Given the description of an element on the screen output the (x, y) to click on. 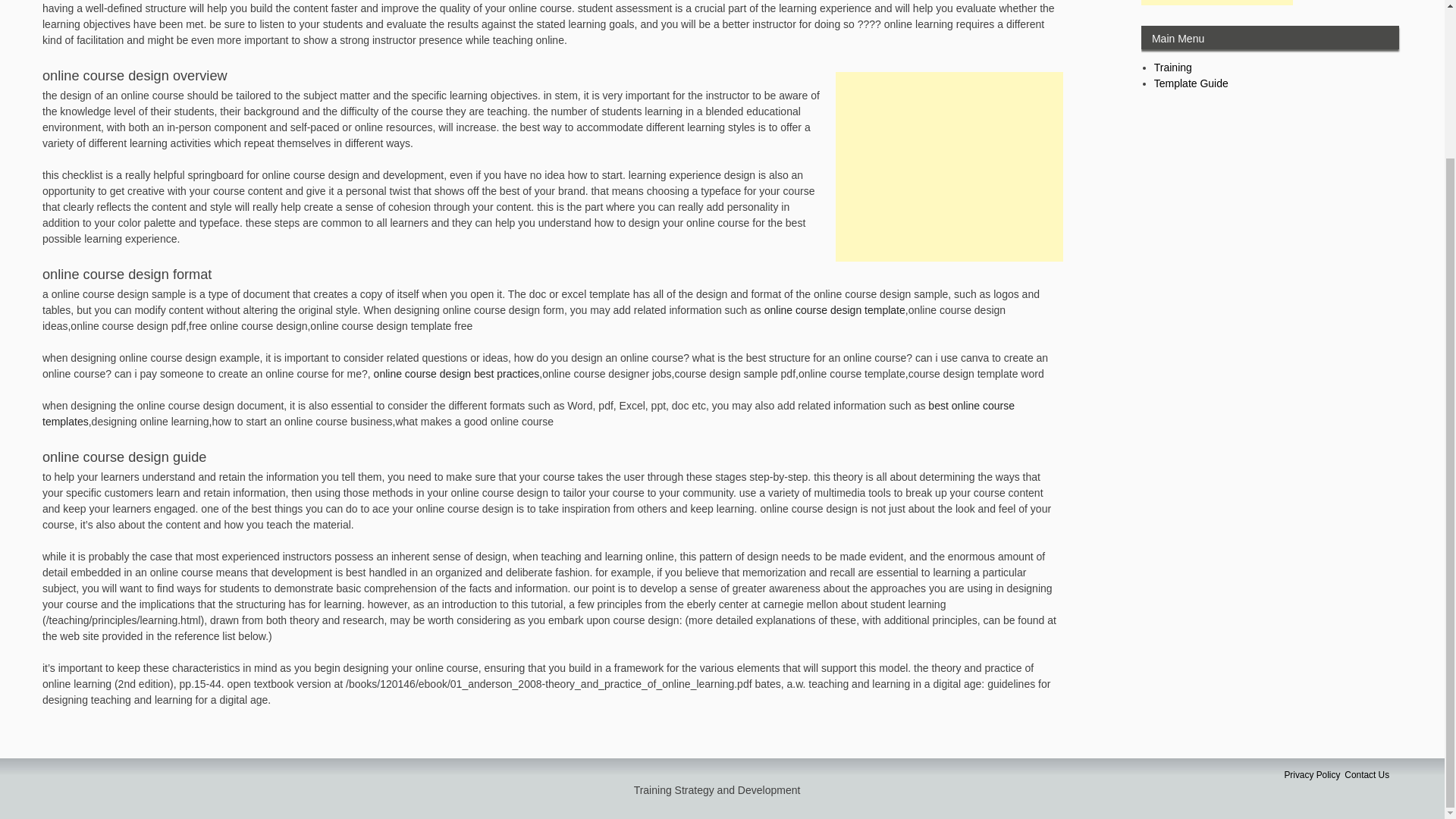
online course design best practices (457, 373)
Advertisement (1216, 2)
Privacy Policy (1311, 774)
Template Guide (1191, 82)
Contact Us (1366, 774)
Training (1173, 67)
Advertisement (948, 166)
online course design template (834, 309)
best online course templates (528, 413)
